Given the description of an element on the screen output the (x, y) to click on. 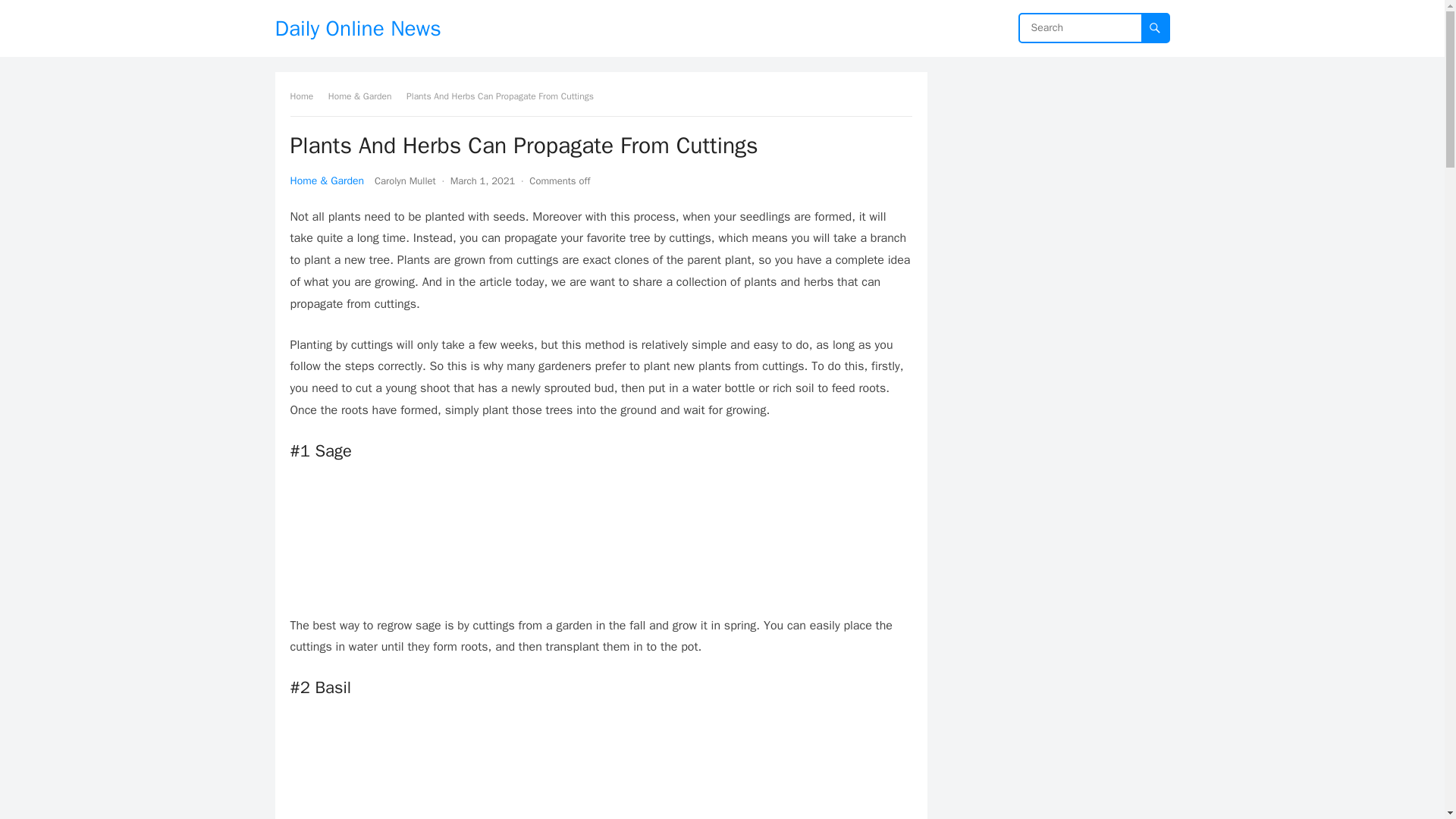
Daily Online News (358, 28)
Home (306, 96)
Posts by Carolyn Mullet (404, 180)
Carolyn Mullet (404, 180)
